Given the description of an element on the screen output the (x, y) to click on. 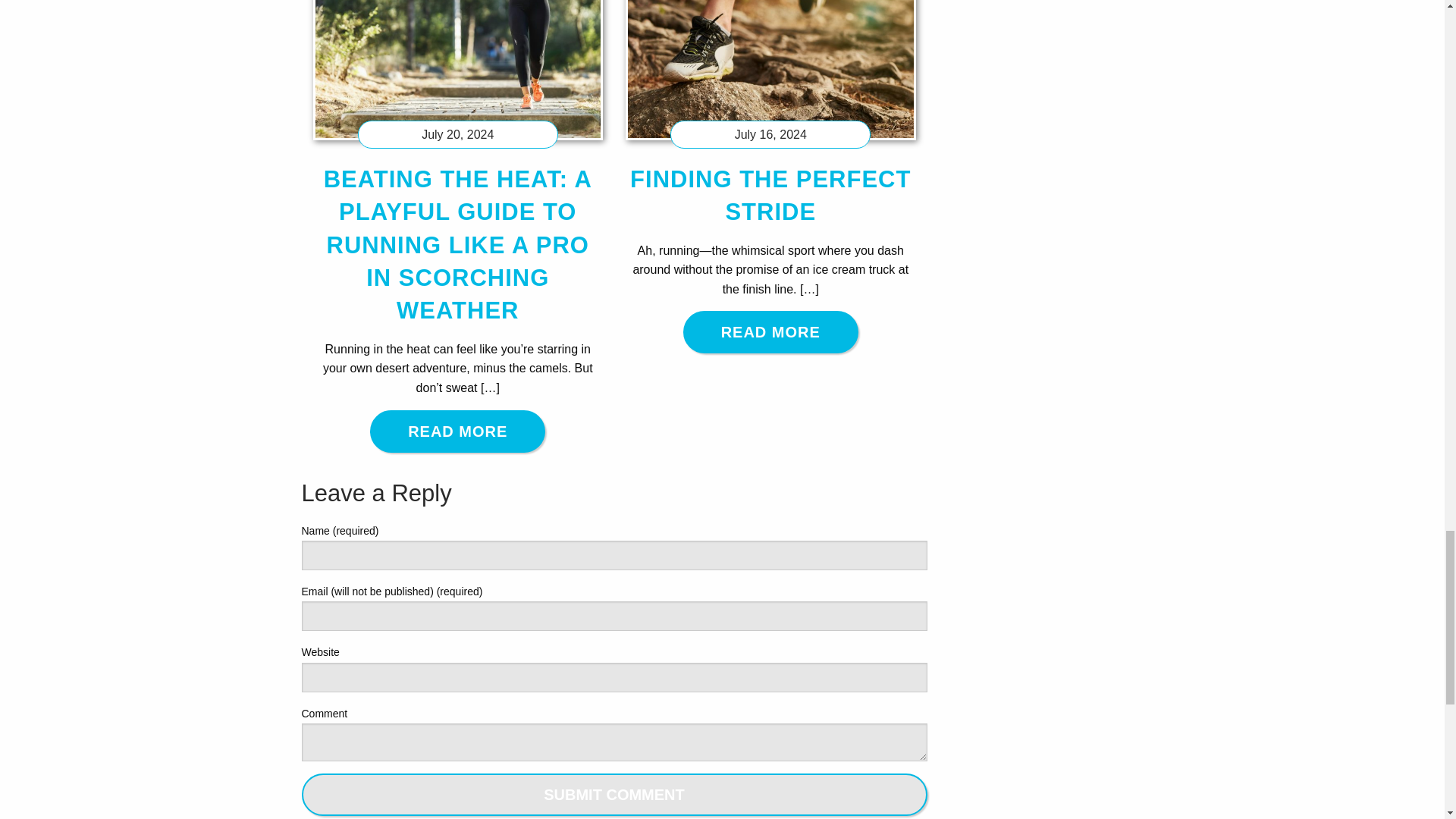
Submit Comment (614, 794)
